Given the description of an element on the screen output the (x, y) to click on. 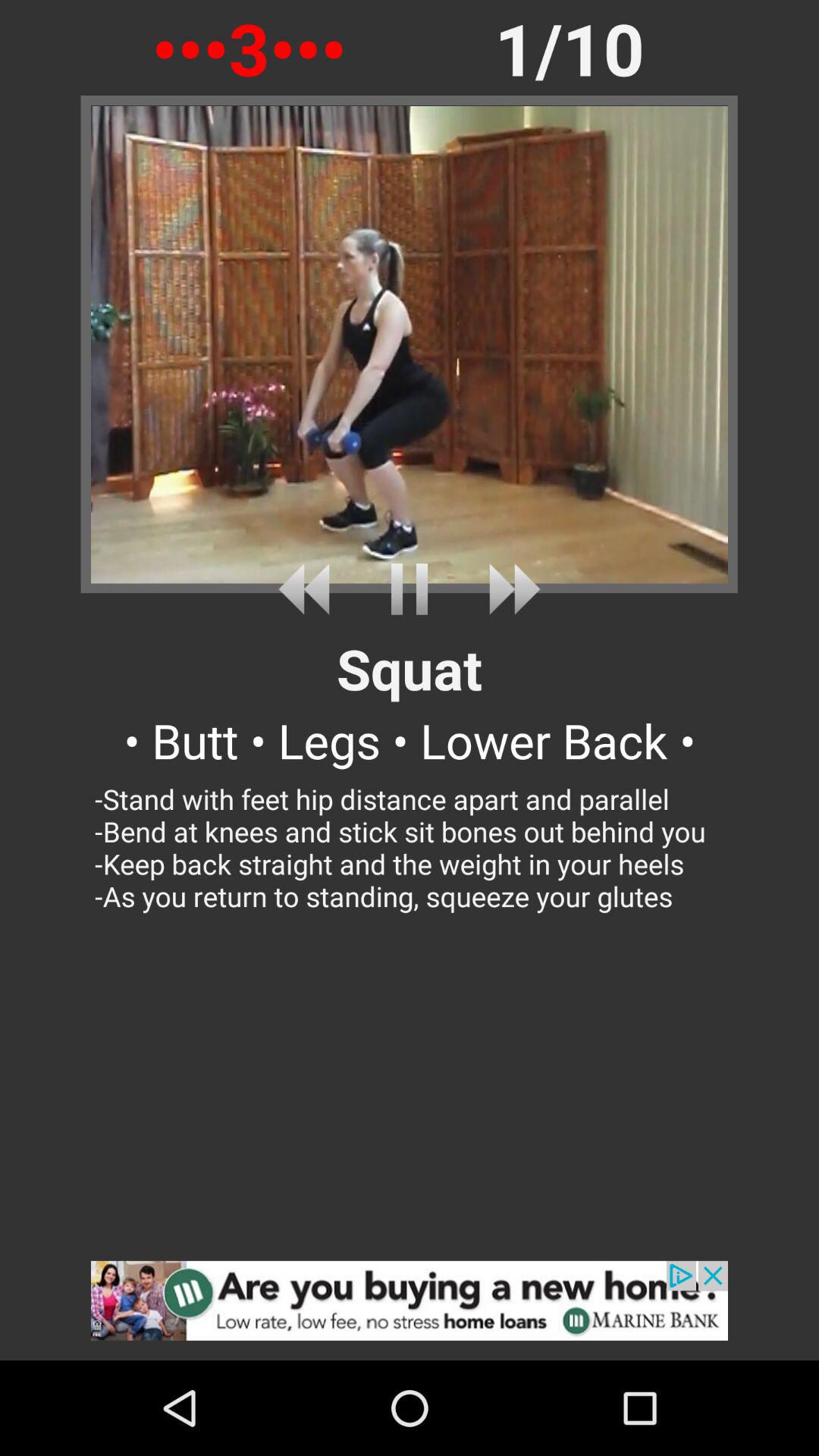
for back (309, 589)
